Given the description of an element on the screen output the (x, y) to click on. 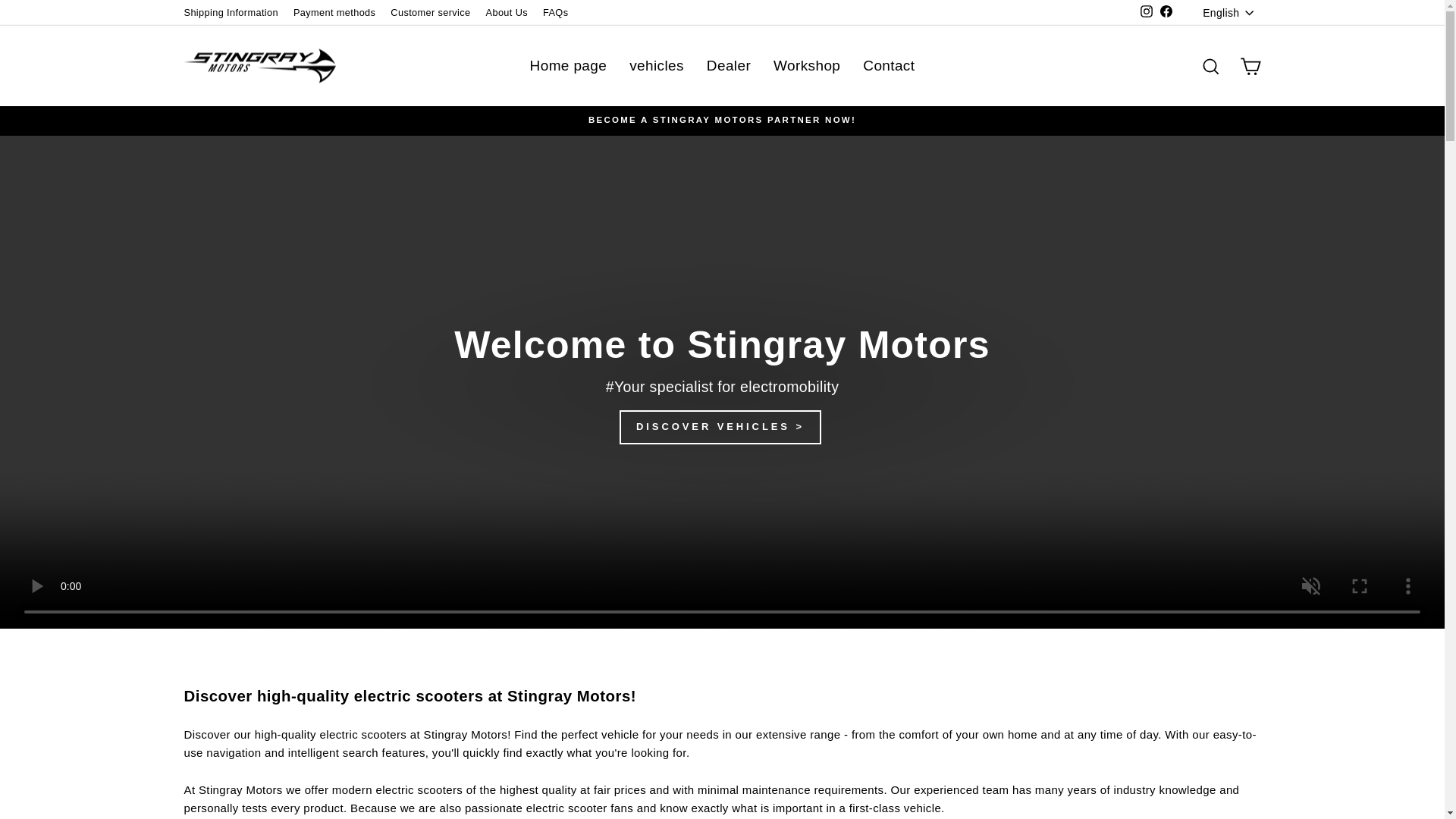
Payment methods (333, 12)
vehicles (656, 65)
Shipping Information (230, 12)
FAQs (555, 12)
English (1229, 12)
Customer service (429, 12)
About Us (507, 12)
Home page (568, 65)
